Given the description of an element on the screen output the (x, y) to click on. 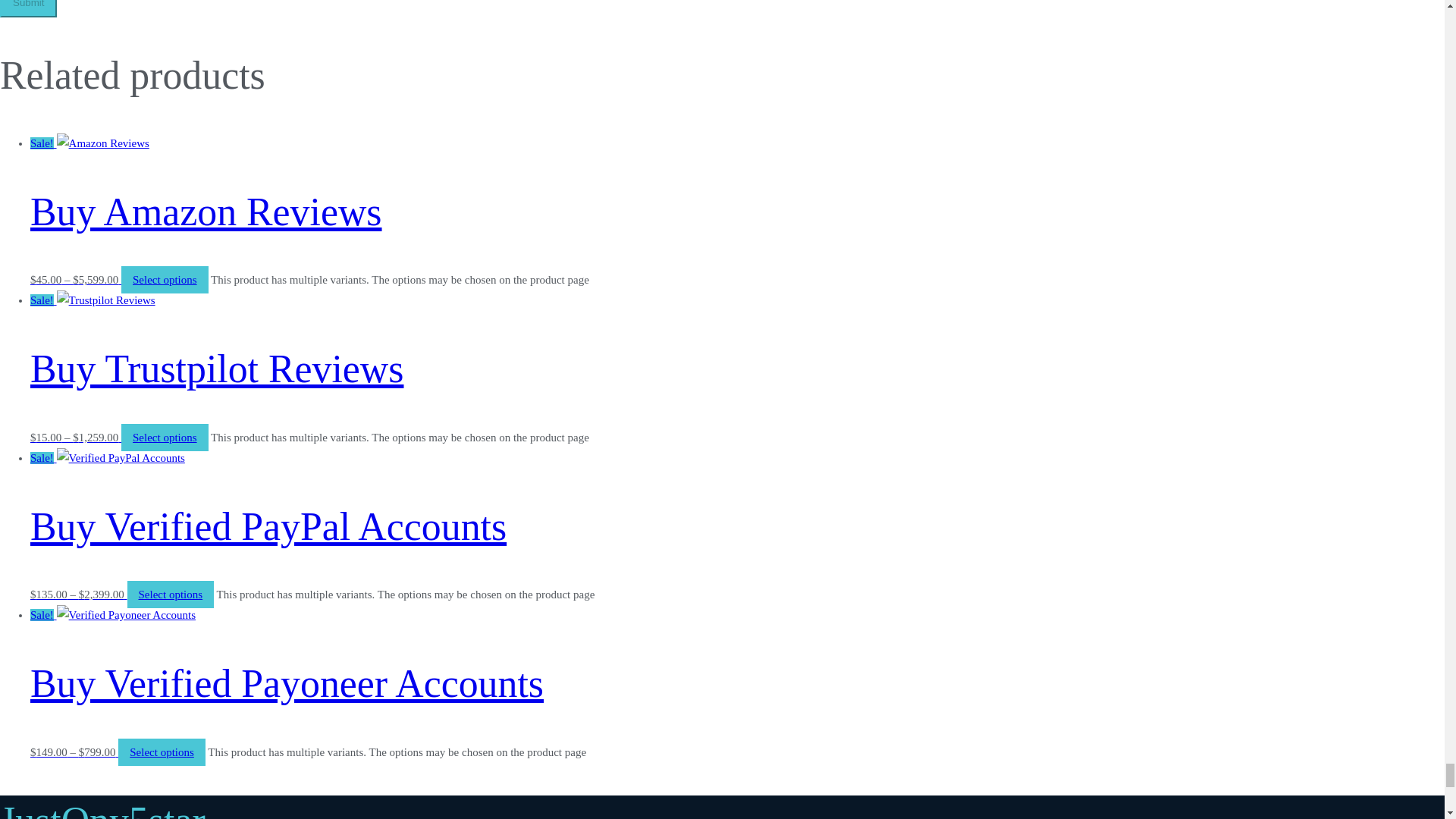
Submit (28, 8)
